Given the description of an element on the screen output the (x, y) to click on. 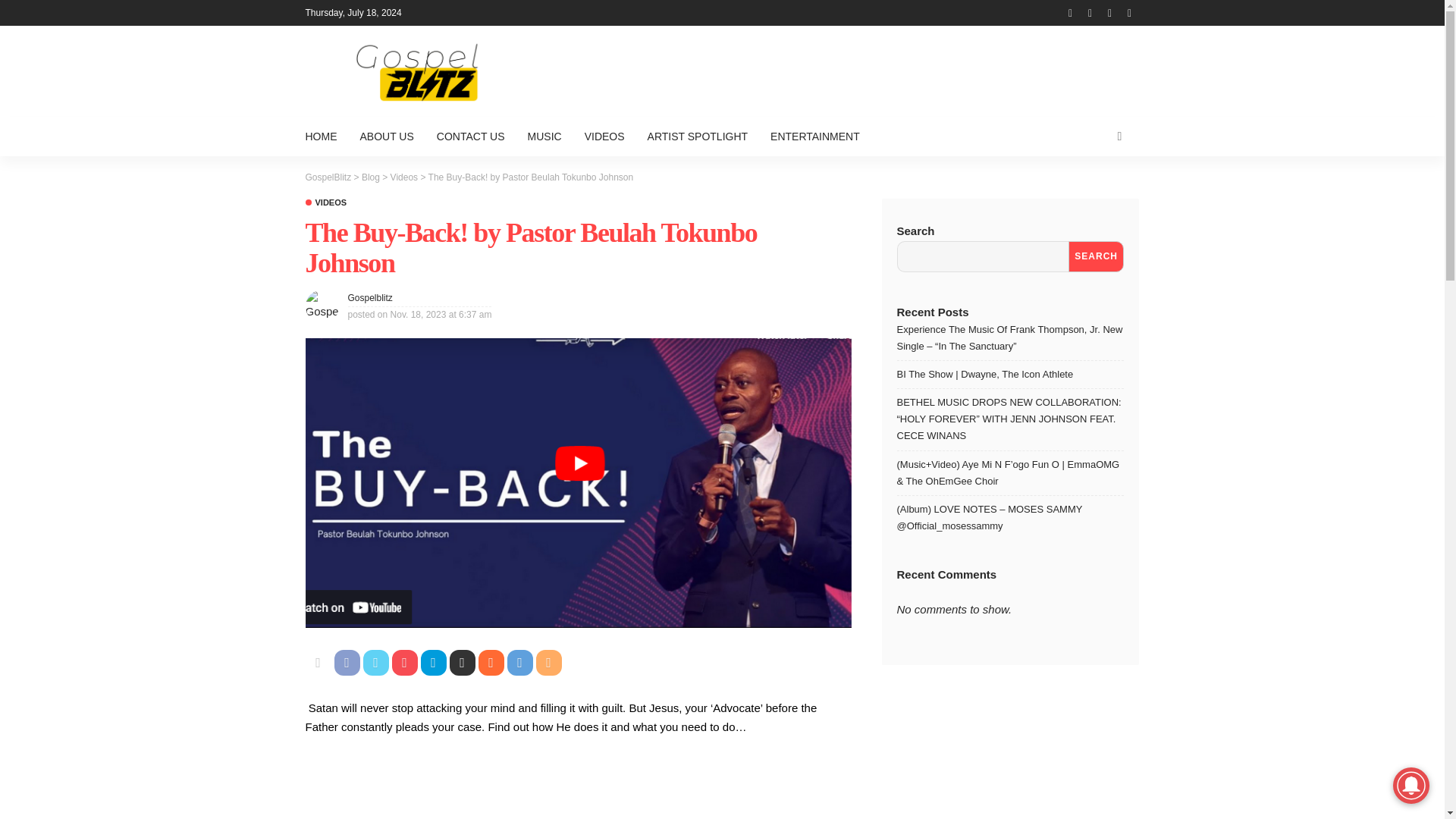
ABOUT US (387, 136)
CONTACT US (470, 136)
Go to GospelBlitz. (327, 176)
GospelBlitz (327, 176)
VIDEOS (604, 136)
Gospelblitz (369, 297)
VIDEOS (325, 203)
HOME (325, 136)
ENTERTAINMENT (814, 136)
MUSIC (544, 136)
Blog (370, 176)
Go to the Videos Category archives. (403, 176)
Videos (325, 203)
Go to Blog. (370, 176)
ARTIST SPOTLIGHT (698, 136)
